Given the description of an element on the screen output the (x, y) to click on. 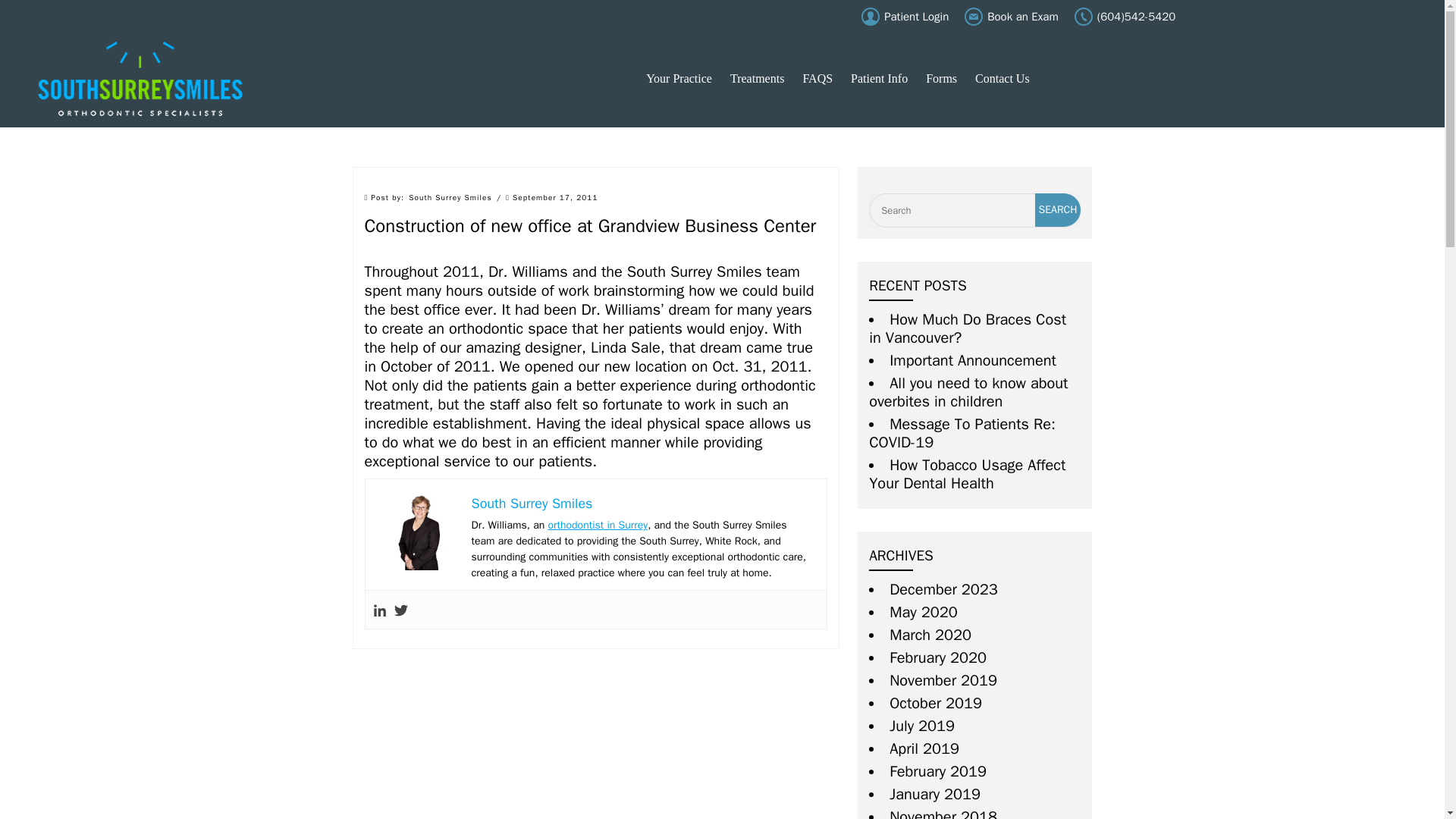
Search (1058, 209)
Posts by South Surrey Smiles (450, 197)
Twitter (400, 609)
Book an Exam (1010, 16)
South Surrey Smiles (140, 78)
Linkedin (379, 609)
Patient Login (905, 16)
